Given the description of an element on the screen output the (x, y) to click on. 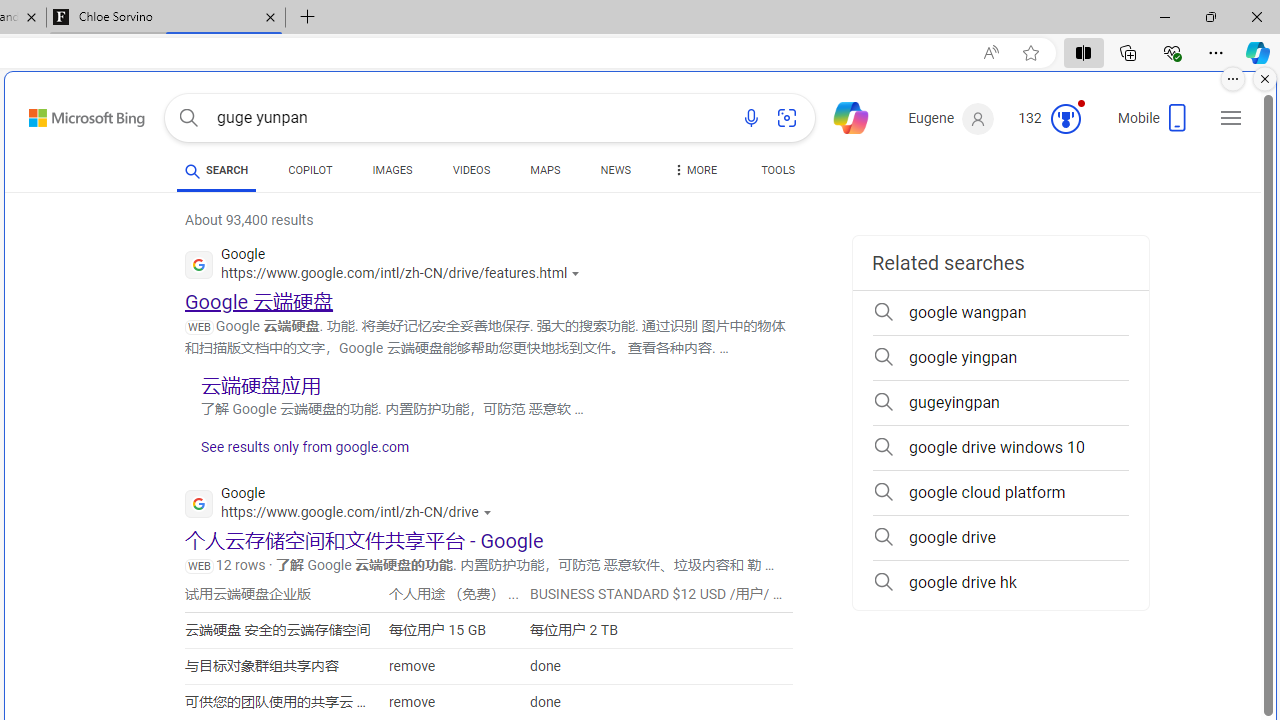
Dropdown Menu (693, 170)
Chloe Sorvino (166, 17)
Search (188, 117)
